Given the description of an element on the screen output the (x, y) to click on. 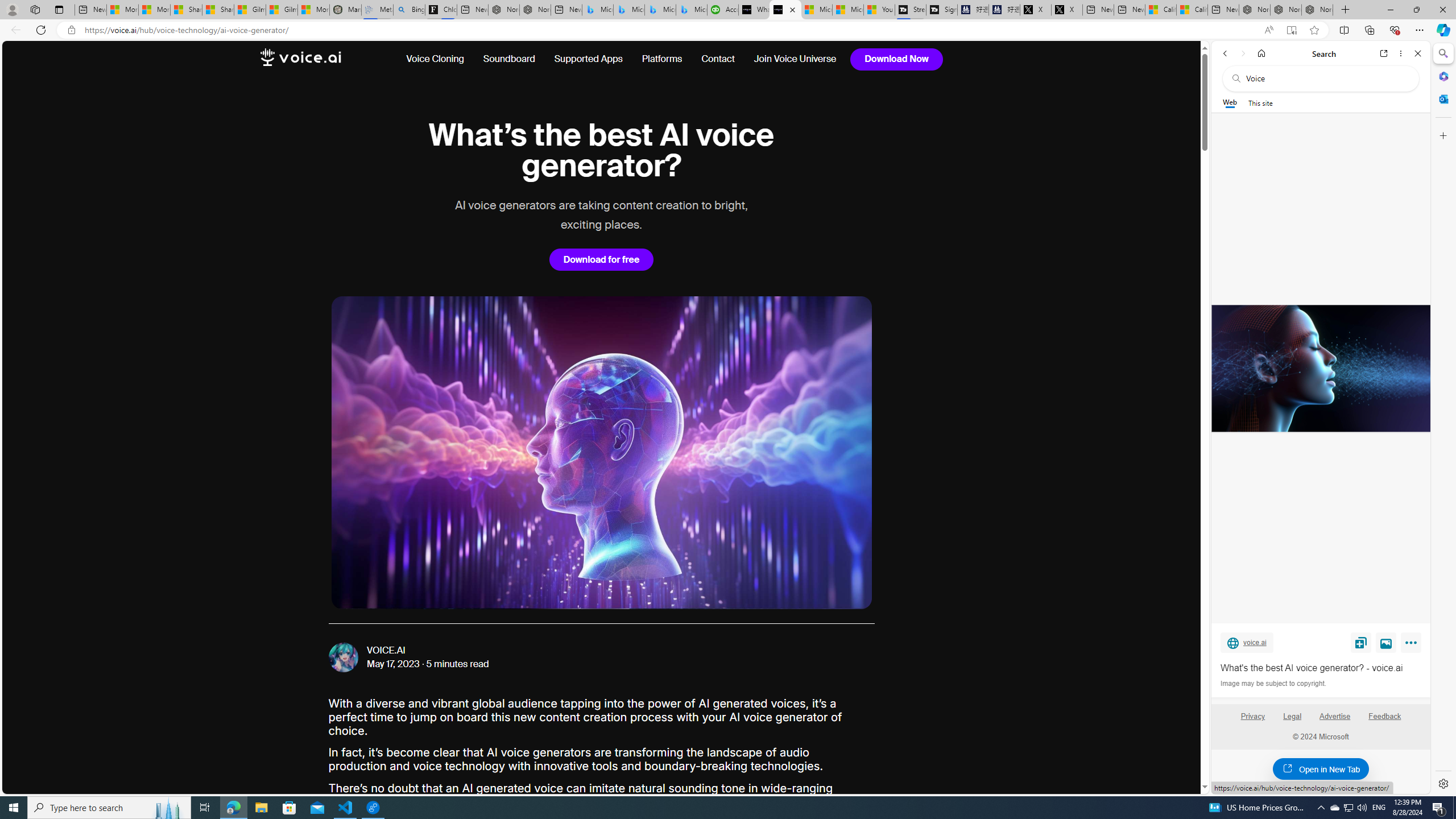
Download Now (896, 58)
Contact (718, 59)
Manatee Mortality Statistics | FWC (345, 9)
What's the best AI voice generator? - voice.ai (1320, 368)
Image may be subject to copyright. (1273, 682)
May 17, 2023 (393, 663)
Save (1361, 642)
Settings (1442, 783)
Open link in new tab (1383, 53)
Streaming Coverage | T3 (909, 9)
Enter Immersive Reader (F9) (1291, 29)
